Given the description of an element on the screen output the (x, y) to click on. 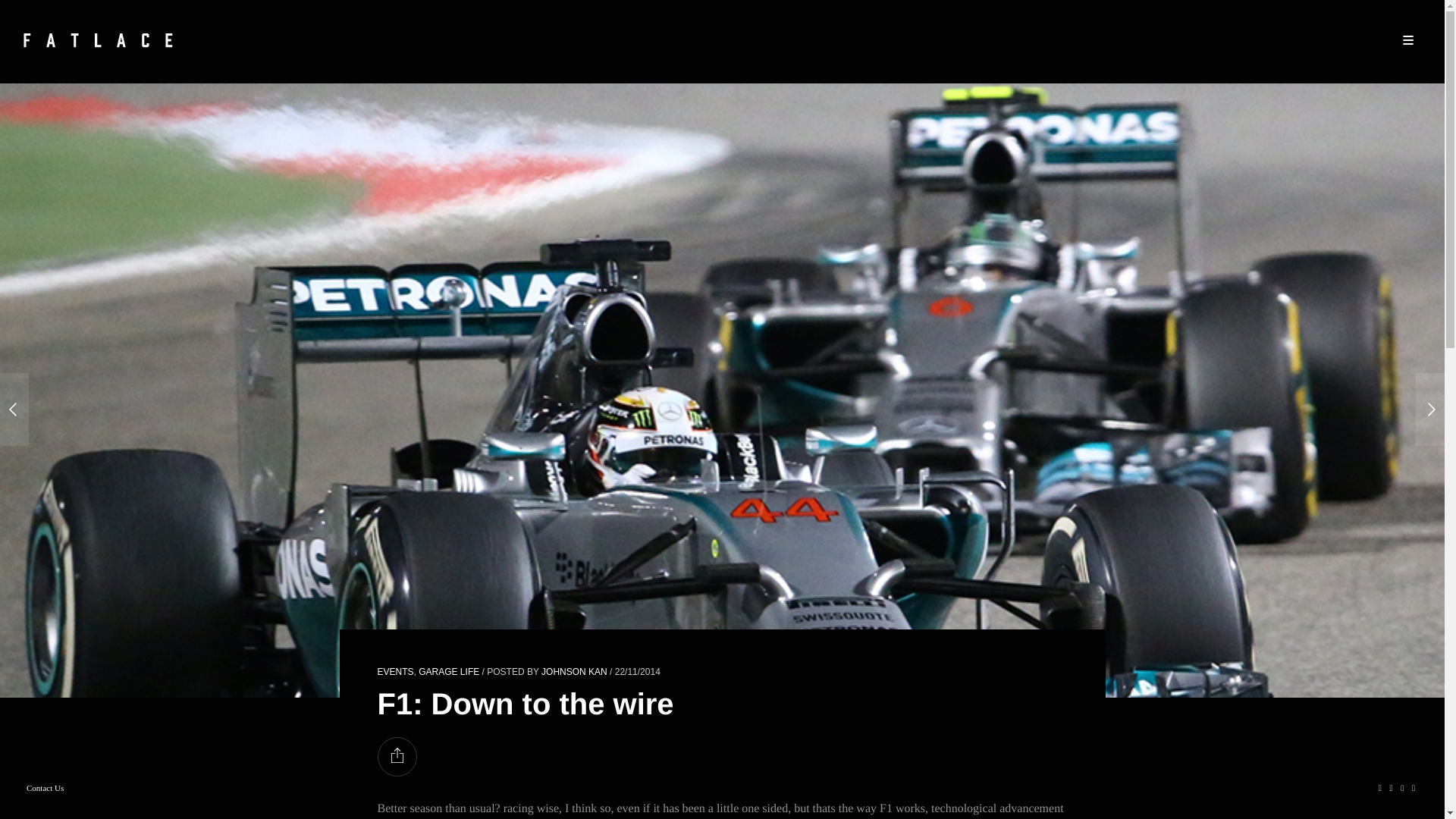
Posts by Johnson Kan (574, 671)
JOHNSON KAN (574, 671)
EVENTS (395, 671)
GARAGE LIFE (449, 671)
